Given the description of an element on the screen output the (x, y) to click on. 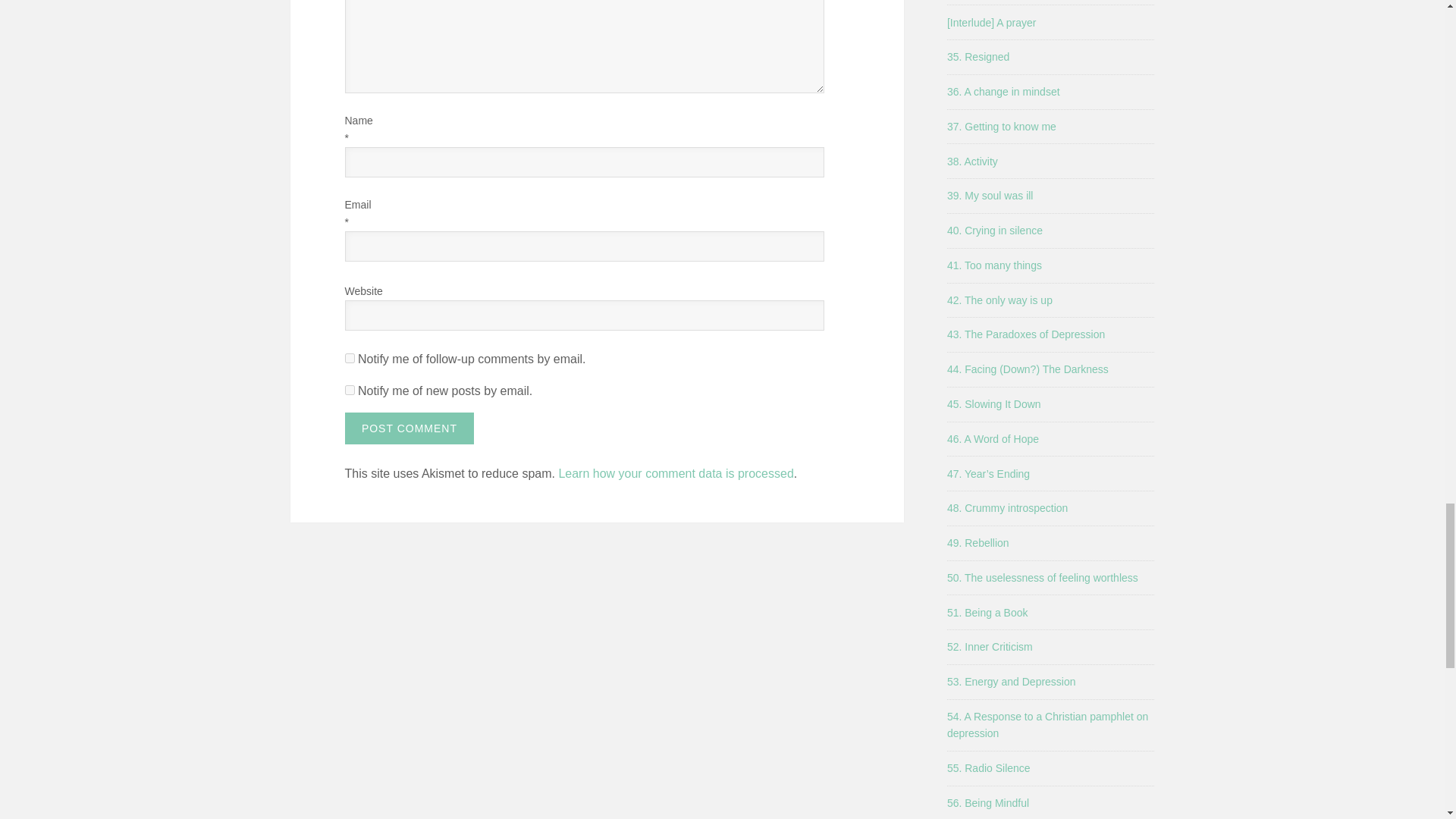
Post Comment (408, 428)
Learn how your comment data is processed (675, 472)
subscribe (348, 389)
Post Comment (408, 428)
subscribe (348, 357)
